Given the description of an element on the screen output the (x, y) to click on. 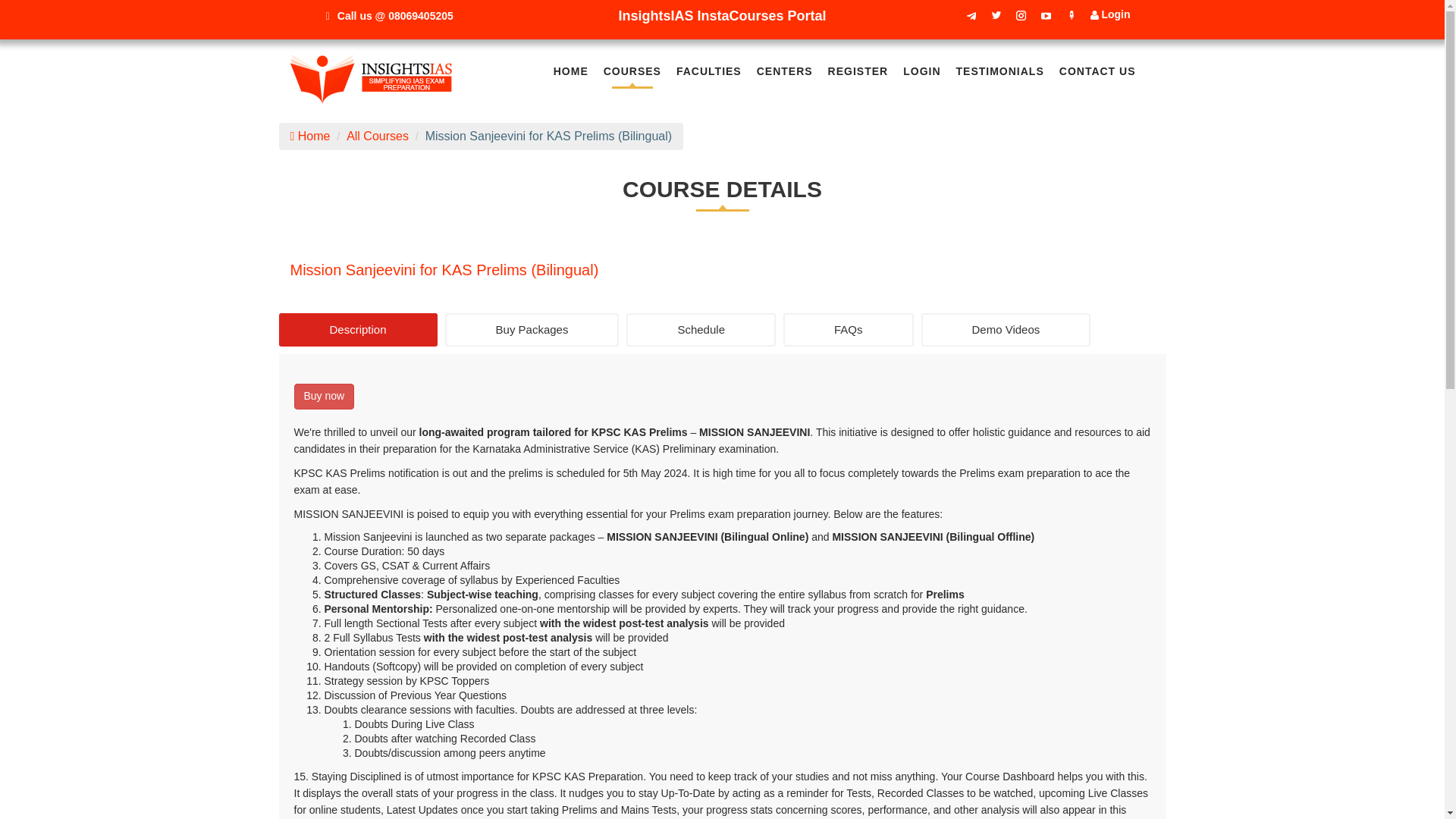
COURSES (631, 76)
08069405205 (420, 15)
FACULTIES (708, 76)
TESTIMONIALS (1000, 76)
LOGIN (921, 76)
REGISTER (858, 76)
Login (1109, 14)
Buy now (324, 396)
CONTACT US (1096, 76)
Home (309, 135)
